Given the description of an element on the screen output the (x, y) to click on. 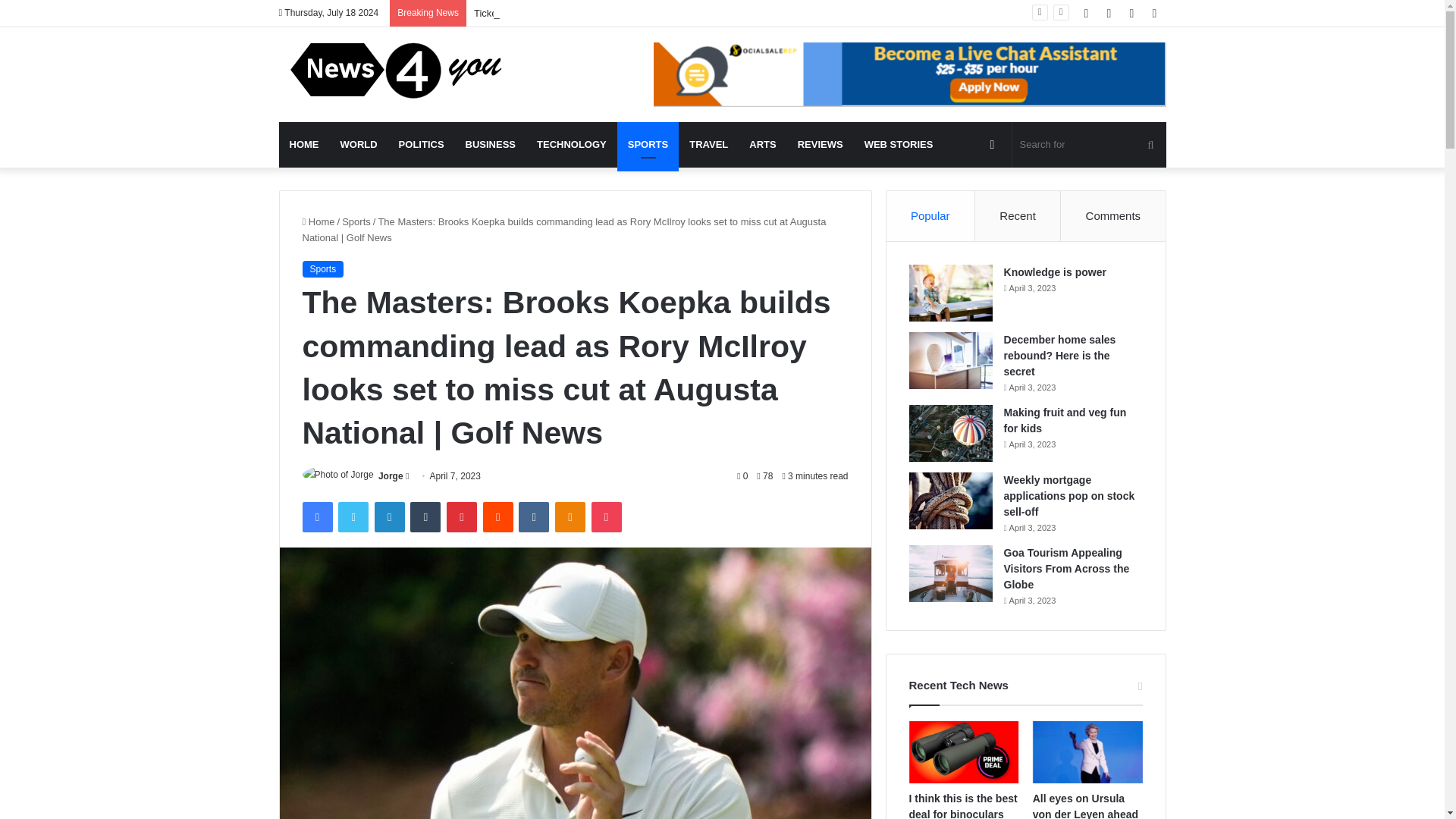
WORLD (358, 144)
Sports (322, 269)
Facebook (316, 517)
Odnoklassniki (569, 517)
WEB STORIES (898, 144)
Jorge (390, 475)
Facebook (316, 517)
Tumblr (425, 517)
Pocket (606, 517)
News 4 You (397, 69)
Odnoklassniki (569, 517)
POLITICS (421, 144)
Home (317, 221)
Sports (356, 221)
Ticket Update: Lancashire Lightning vs Notts Outlaws (590, 12)
